Given the description of an element on the screen output the (x, y) to click on. 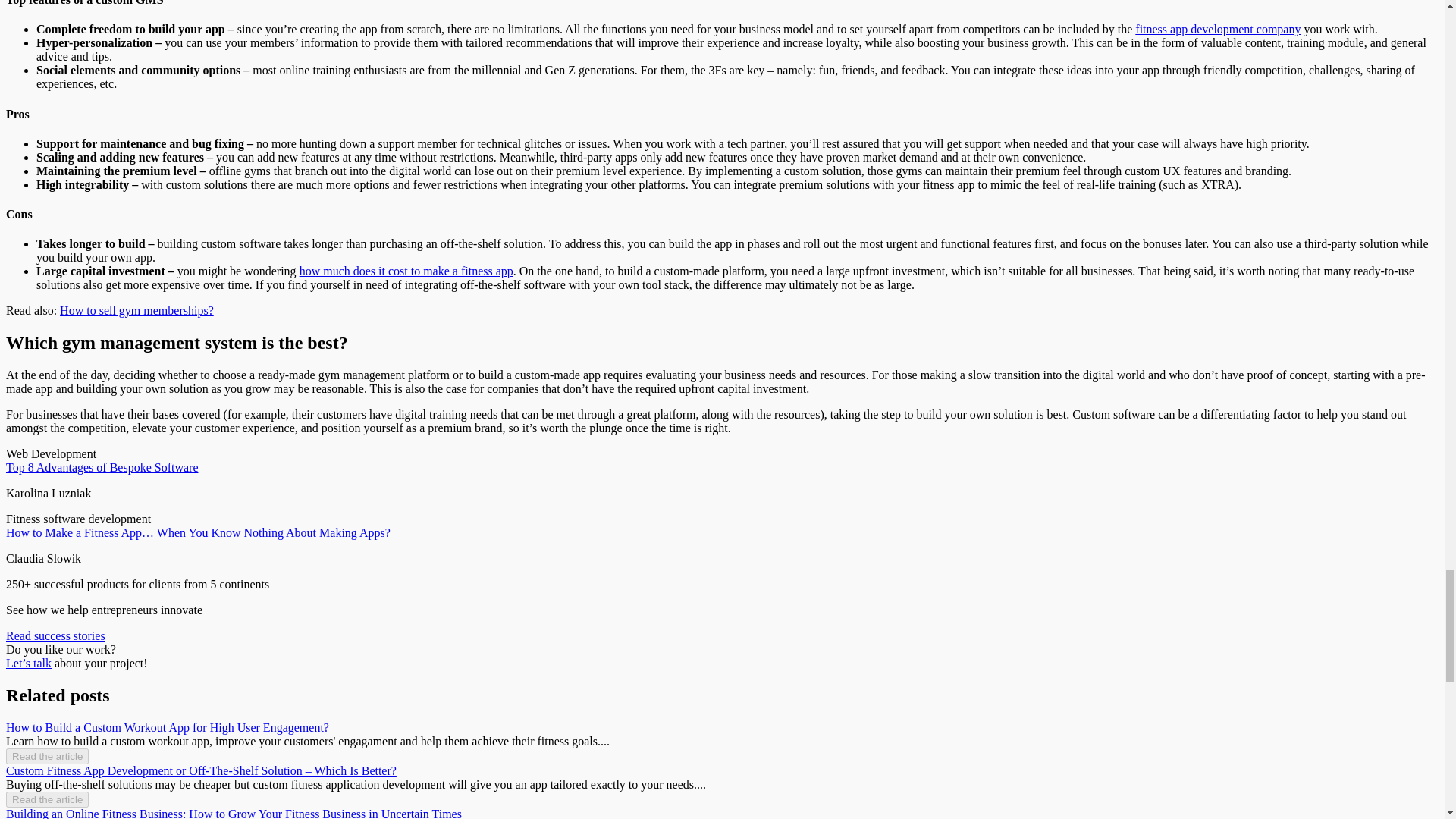
Read success stories (54, 635)
how much does it cost to make a fitness app (406, 270)
fitness app development company (1217, 29)
How to sell gym memberships? (136, 309)
